Given the description of an element on the screen output the (x, y) to click on. 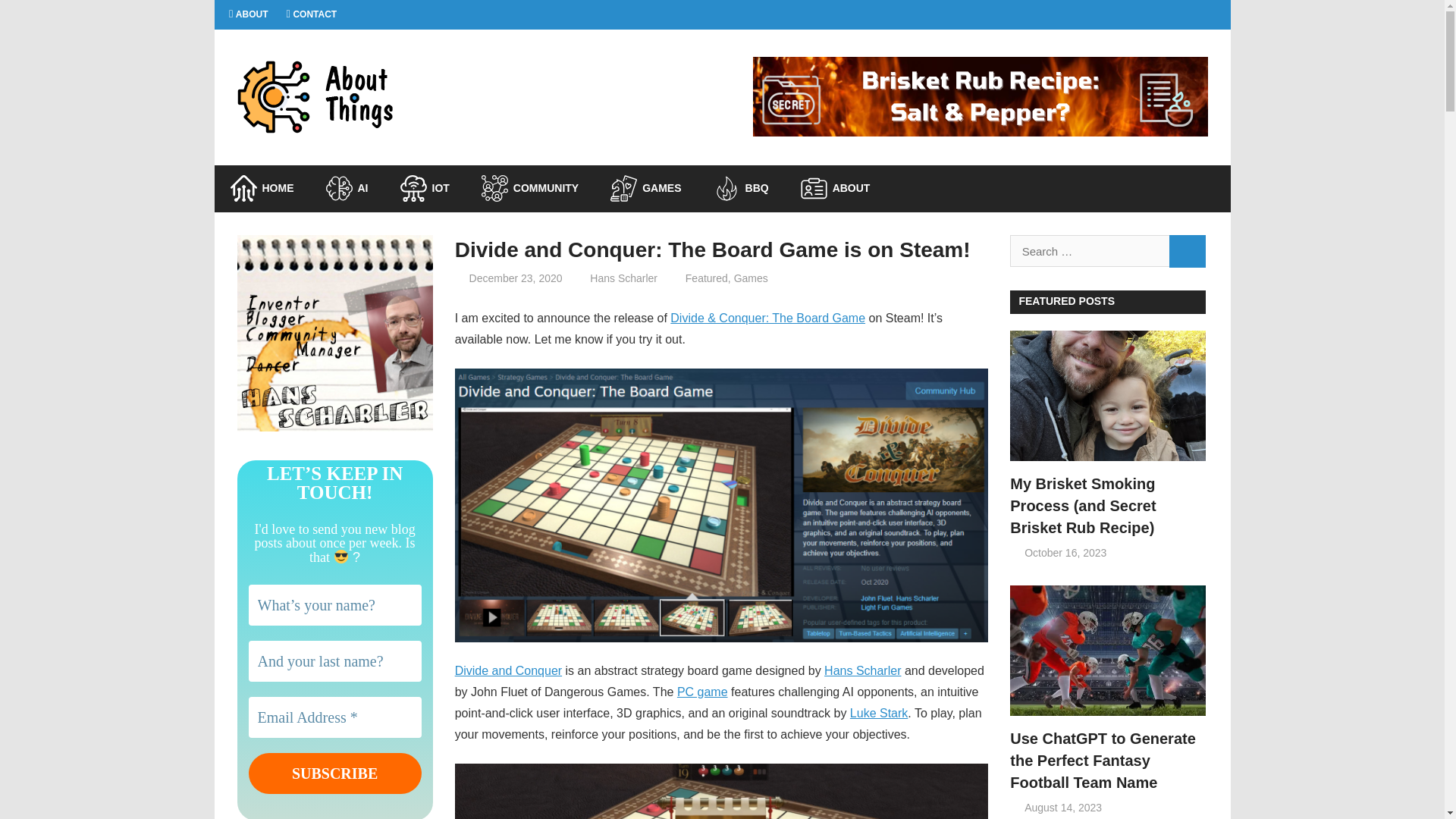
ABOUT (835, 188)
December 23, 2020 (515, 277)
5:30 pm (1063, 807)
GAMES (645, 188)
AI (346, 188)
Subscribe (335, 772)
And your last name? (335, 660)
IOT (424, 188)
Divide and Conquer (508, 670)
GitHub (1150, 14)
